Given the description of an element on the screen output the (x, y) to click on. 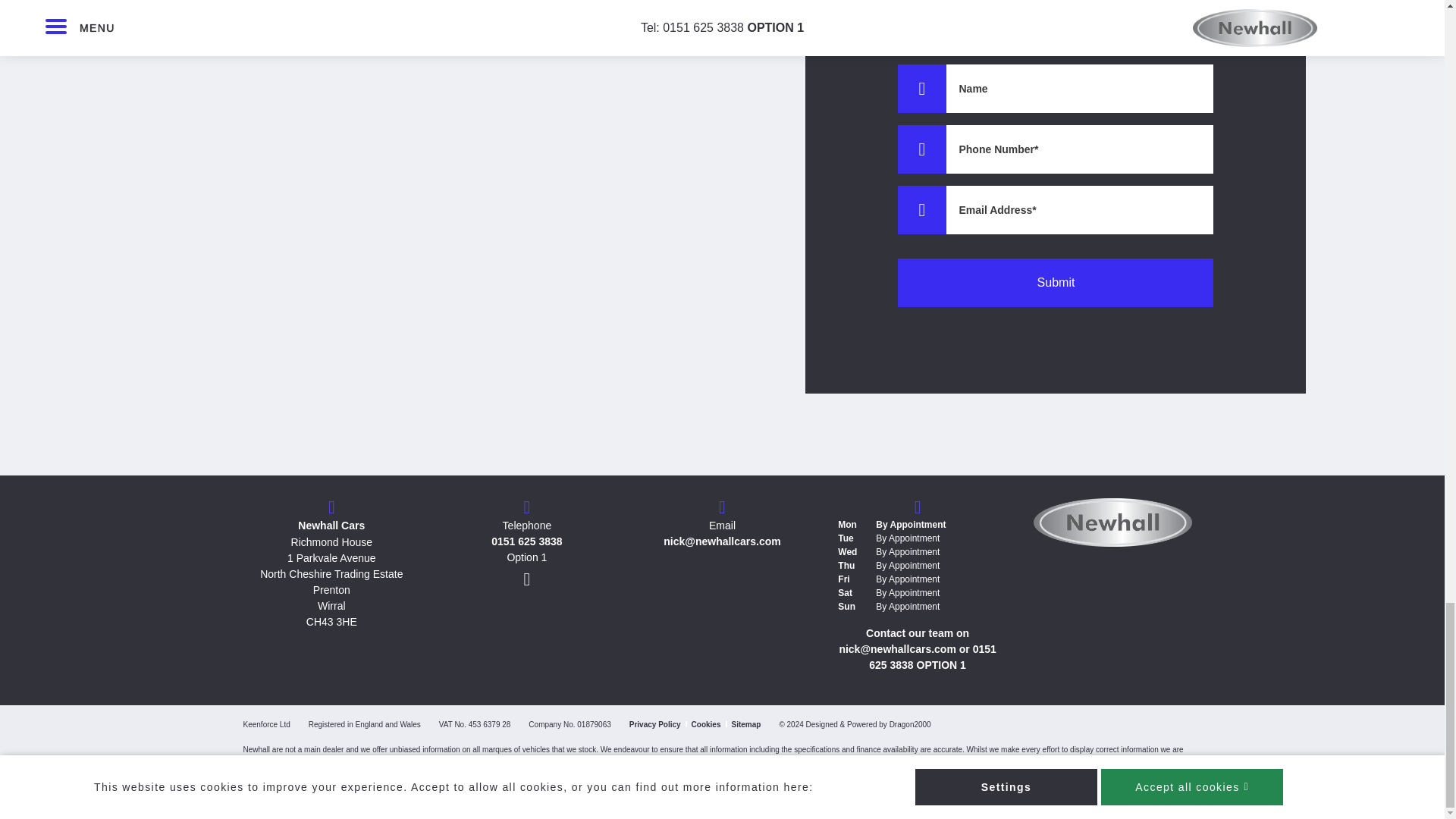
Submit (1055, 282)
